Given the description of an element on the screen output the (x, y) to click on. 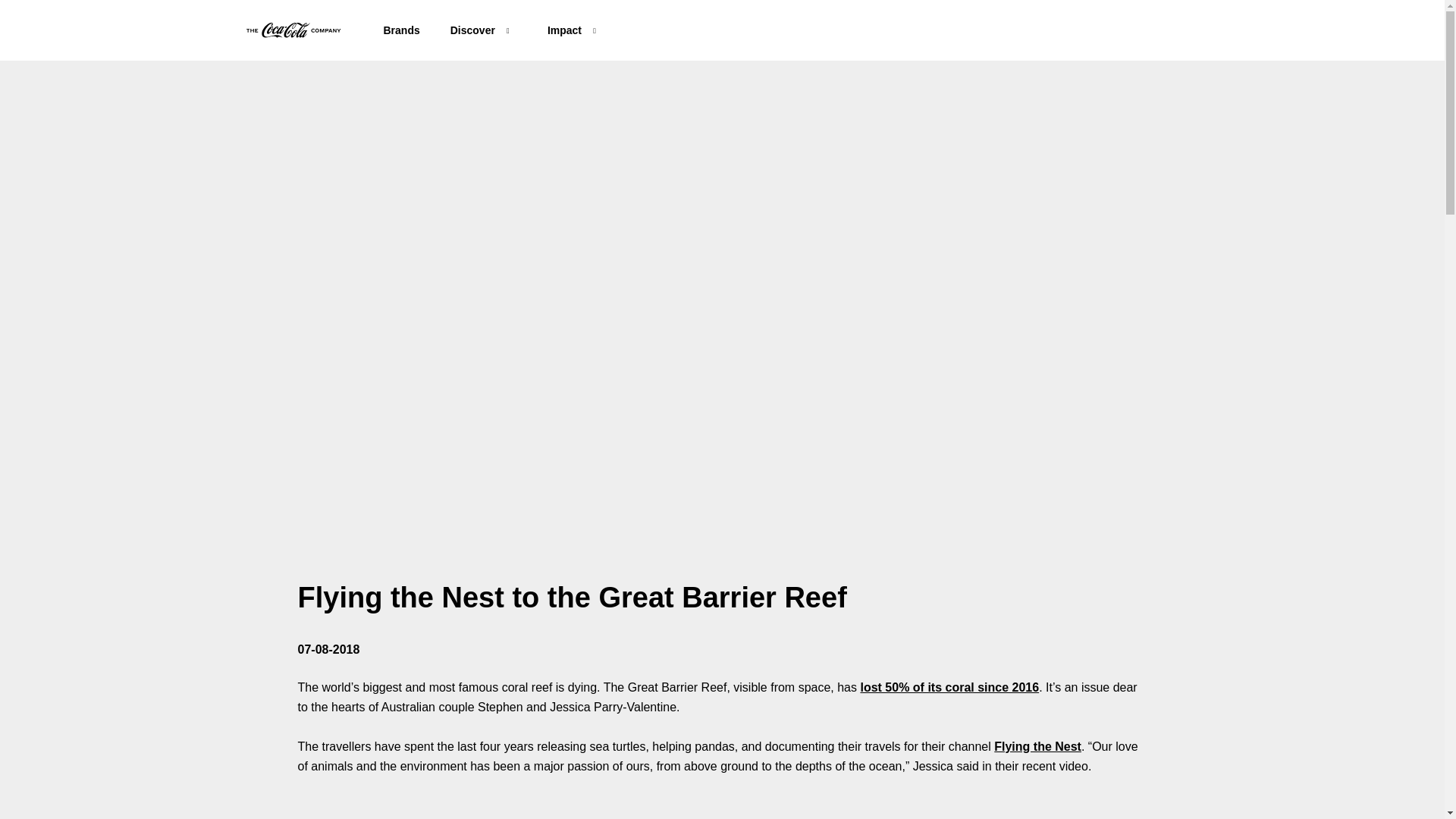
Flying the Nest (1037, 746)
Discover (472, 30)
Brands (402, 30)
Impact (563, 30)
